Given the description of an element on the screen output the (x, y) to click on. 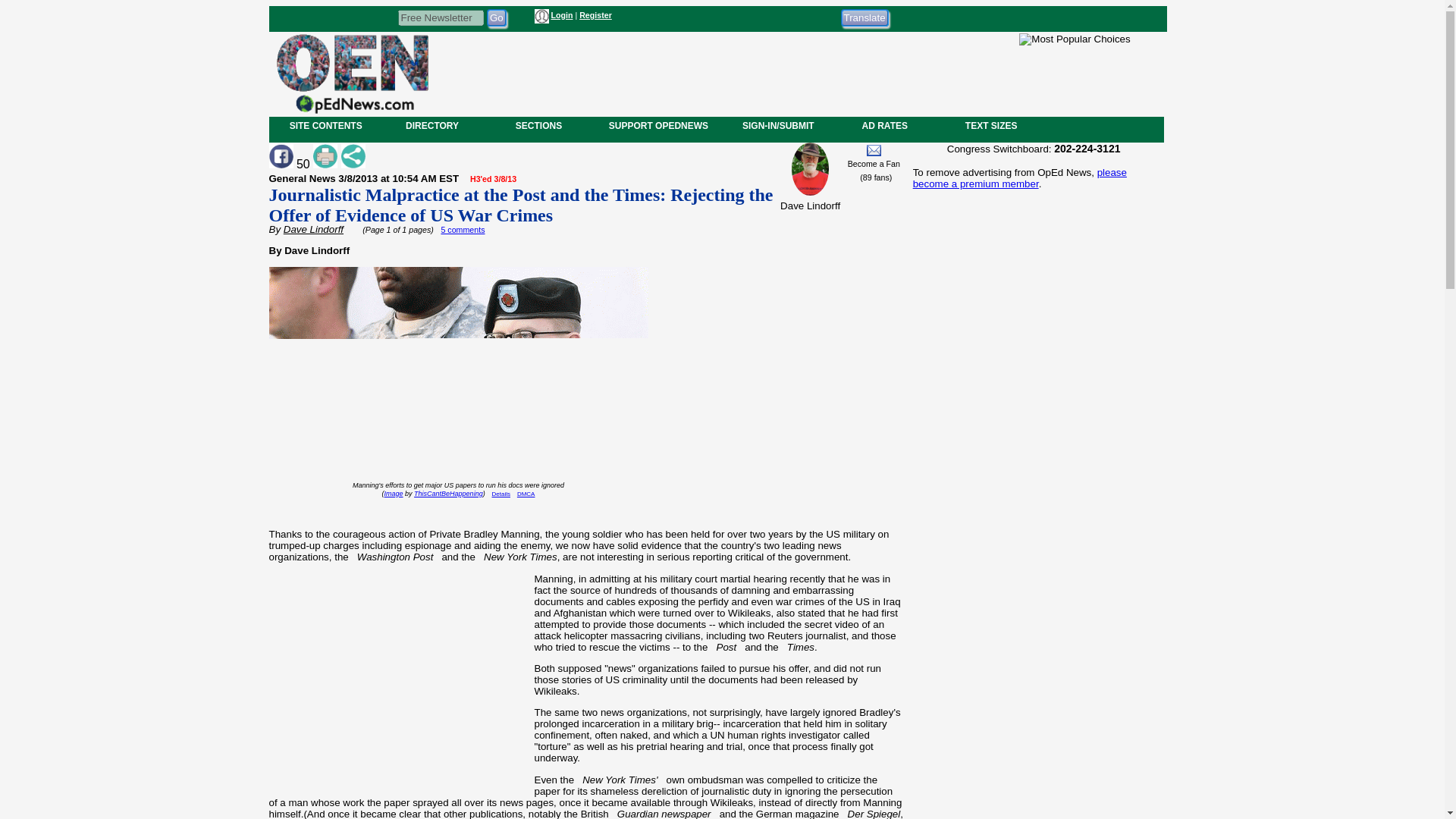
ThisCantBeHappening (448, 493)
Details (501, 493)
Register (595, 14)
Login (561, 14)
TEXT SIZES (990, 125)
Translate (864, 17)
5 comments (462, 229)
SECTIONS (537, 125)
Message Dave Lindorff (873, 150)
DIRECTORY (431, 125)
Report Copyright Violation (525, 493)
AD RATES (884, 125)
